Given the description of an element on the screen output the (x, y) to click on. 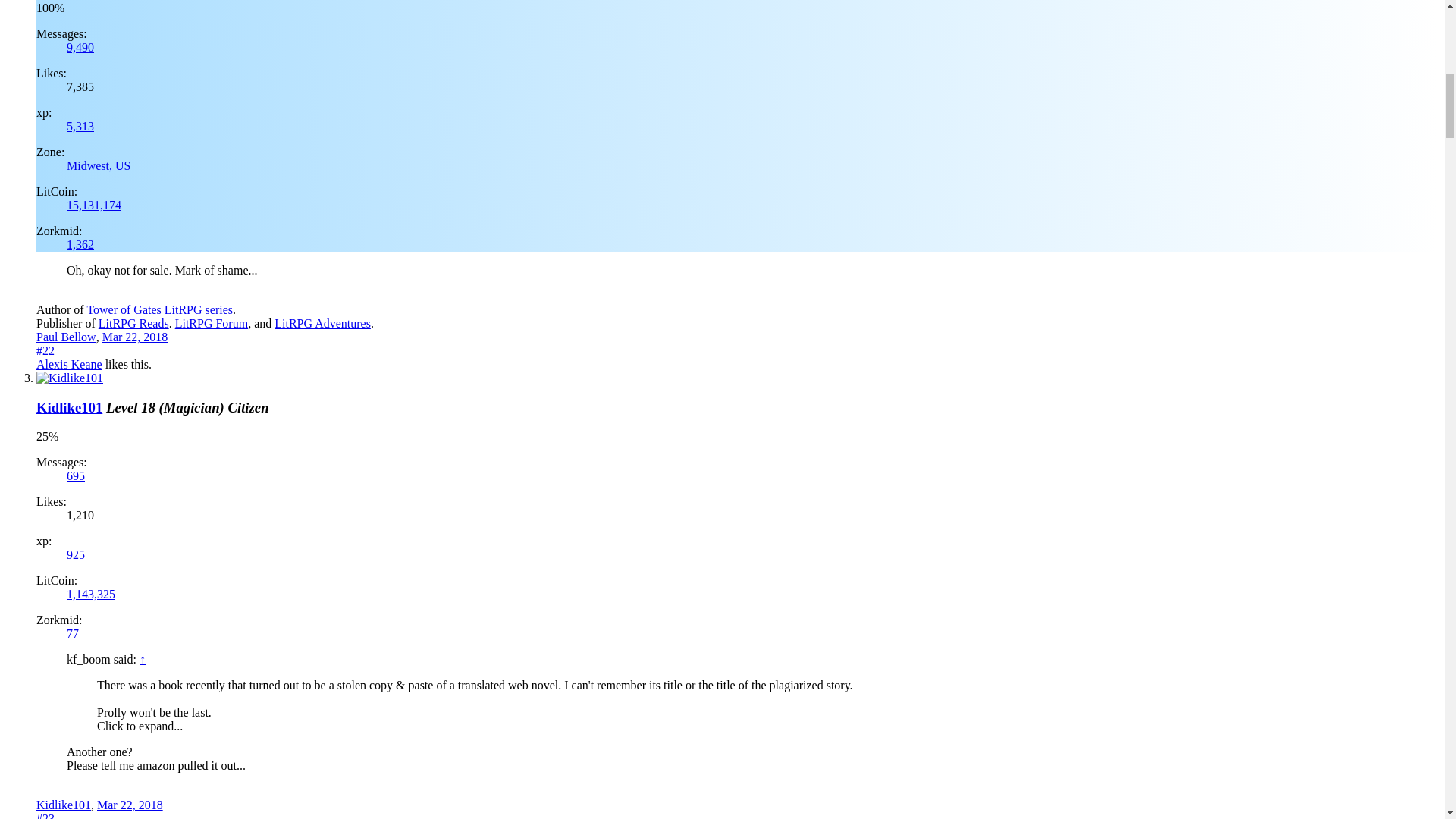
Permalink (45, 350)
9,490 (80, 47)
1,362 (80, 244)
Midwest, US (98, 164)
Permalink (134, 336)
Permalink (45, 815)
LitRPG Reads (133, 323)
LitRPG Forum (210, 323)
5,313 (80, 125)
15,131,174 (93, 205)
